Given the description of an element on the screen output the (x, y) to click on. 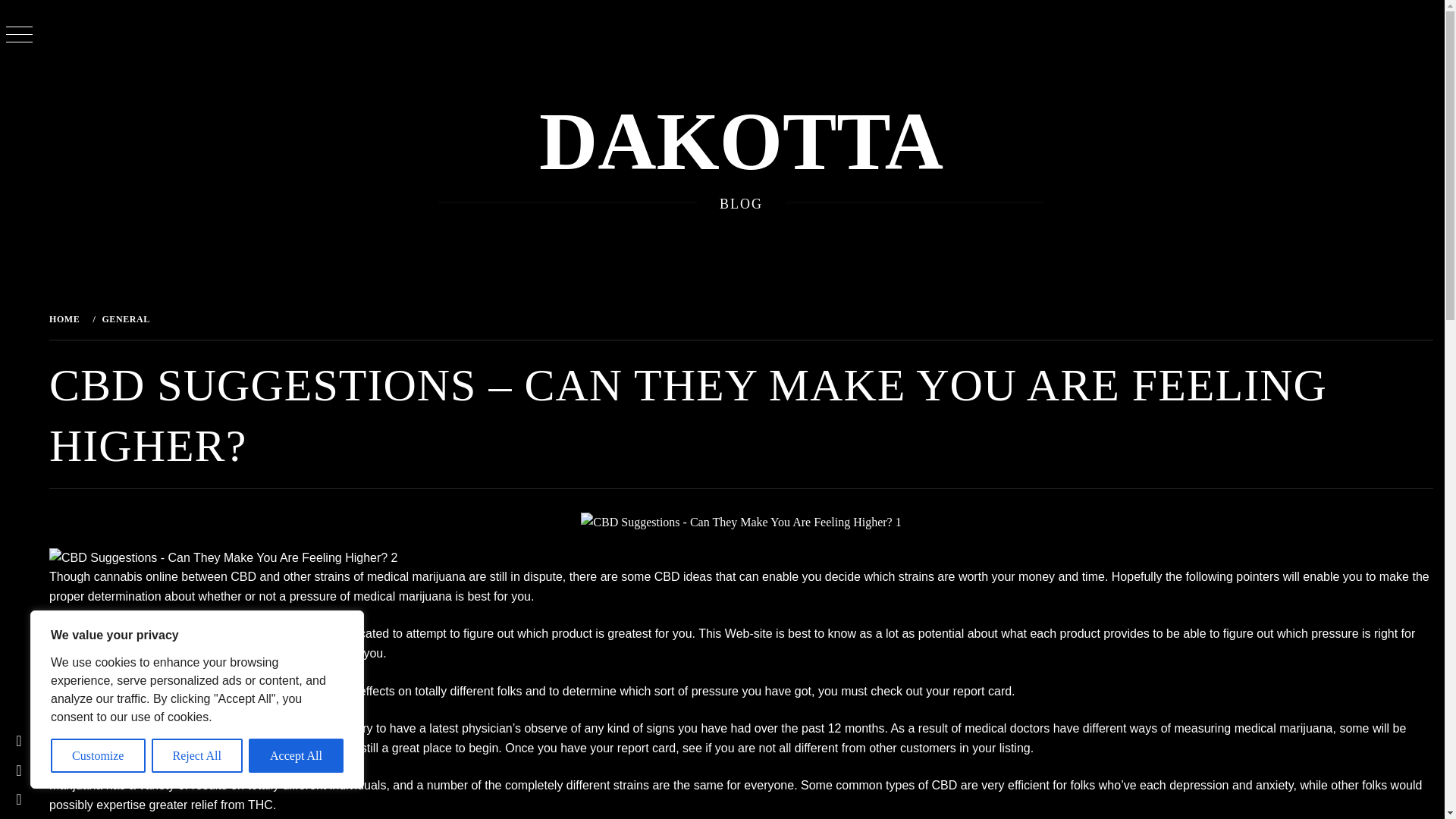
HOME (66, 318)
This Web-site (735, 633)
GENERAL (124, 318)
Accept All (295, 755)
Reject All (197, 755)
DAKOTTA (740, 141)
Customize (97, 755)
visit the site (136, 633)
cannabis online (135, 576)
